Given the description of an element on the screen output the (x, y) to click on. 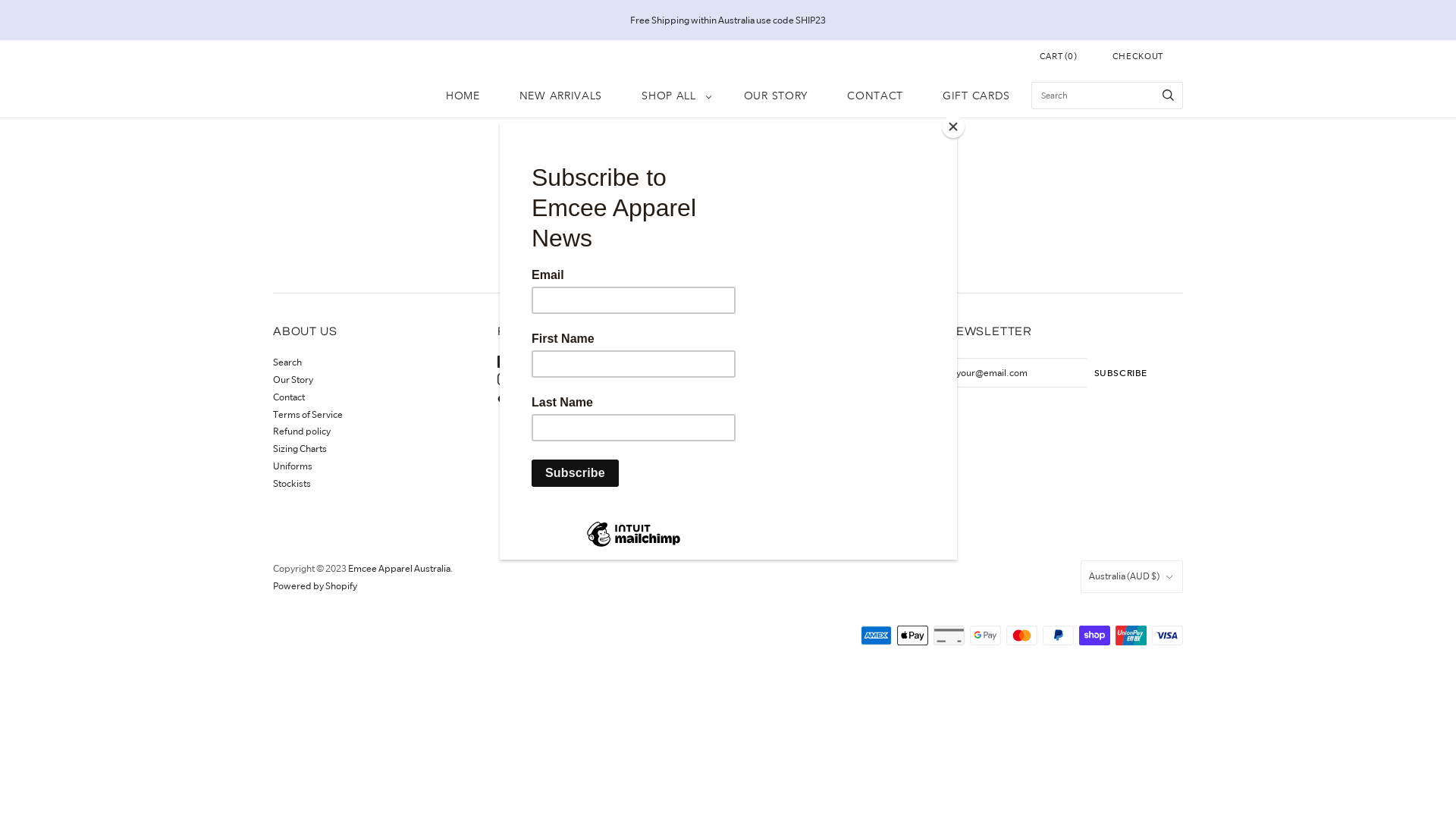
Search Element type: text (287, 361)
Stockists Element type: text (291, 483)
Powered by Shopify Element type: text (315, 585)
Emcee Apparel Australia Element type: text (399, 568)
Refund policy Element type: text (301, 430)
Contact Element type: text (288, 396)
+61 412 052 062 Element type: text (755, 361)
CART (0) Element type: text (1058, 56)
NEW ARRIVALS Element type: text (560, 95)
Sizing Charts Element type: text (299, 448)
GIFT CARDS Element type: text (975, 95)
Instagram Element type: text (524, 379)
searching Element type: text (773, 234)
Facebook Element type: text (524, 361)
Subscribe Element type: text (1120, 372)
OUR STORY Element type: text (775, 95)
Home Element type: text (715, 186)
Uniforms Element type: text (292, 465)
Australia (AUD $) Element type: text (1131, 576)
CHECKOUT Element type: text (1137, 56)
info@emceeapparel.com.au Element type: text (781, 379)
all of our products Element type: text (877, 234)
HOME Element type: text (462, 95)
CONTACT Element type: text (874, 95)
Our Story Element type: text (293, 379)
Terms of Service Element type: text (307, 414)
TikTok Element type: text (518, 396)
